Given the description of an element on the screen output the (x, y) to click on. 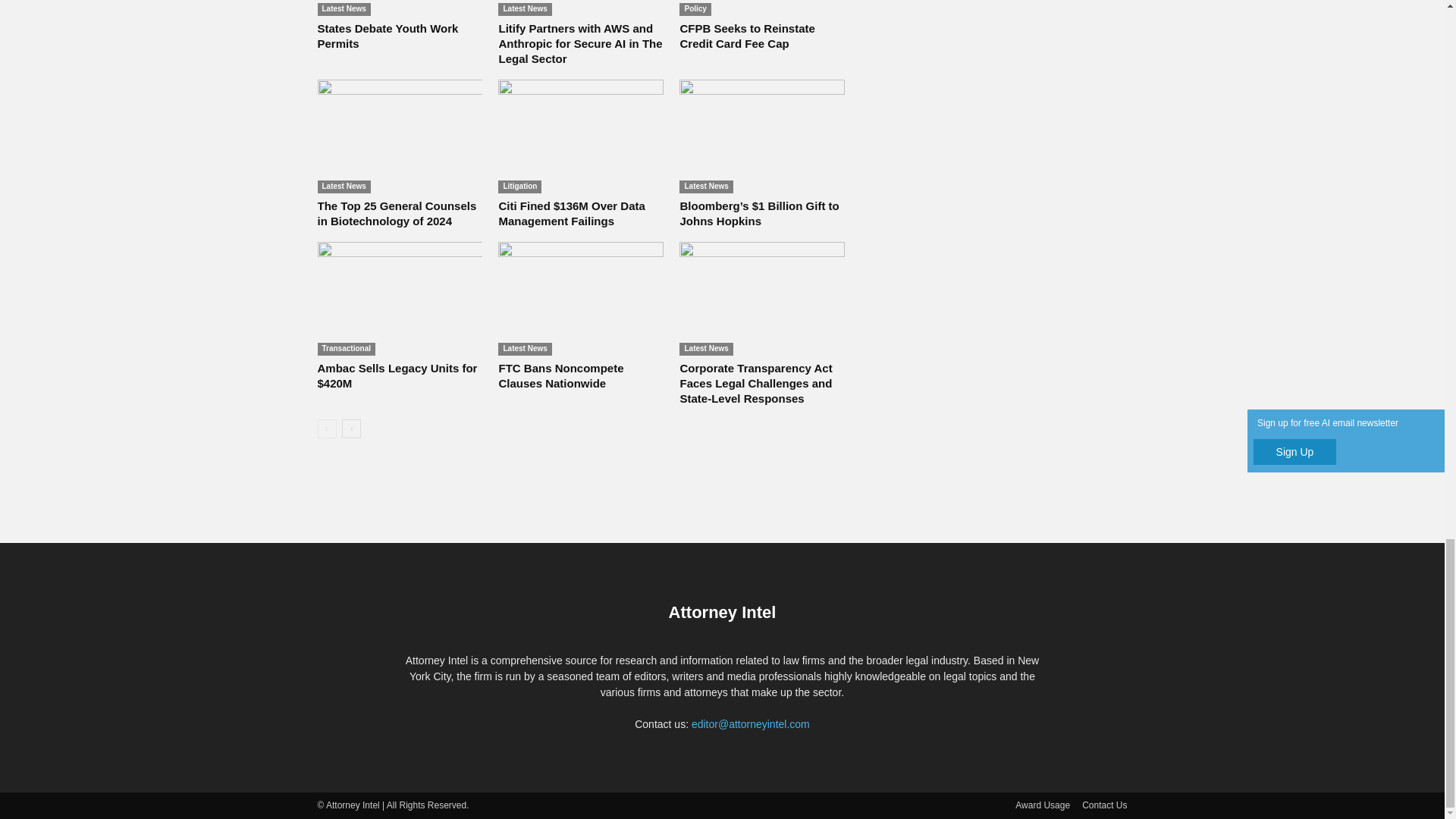
States Debate Youth Work Permits (399, 7)
States Debate Youth Work Permits (387, 35)
